Given the description of an element on the screen output the (x, y) to click on. 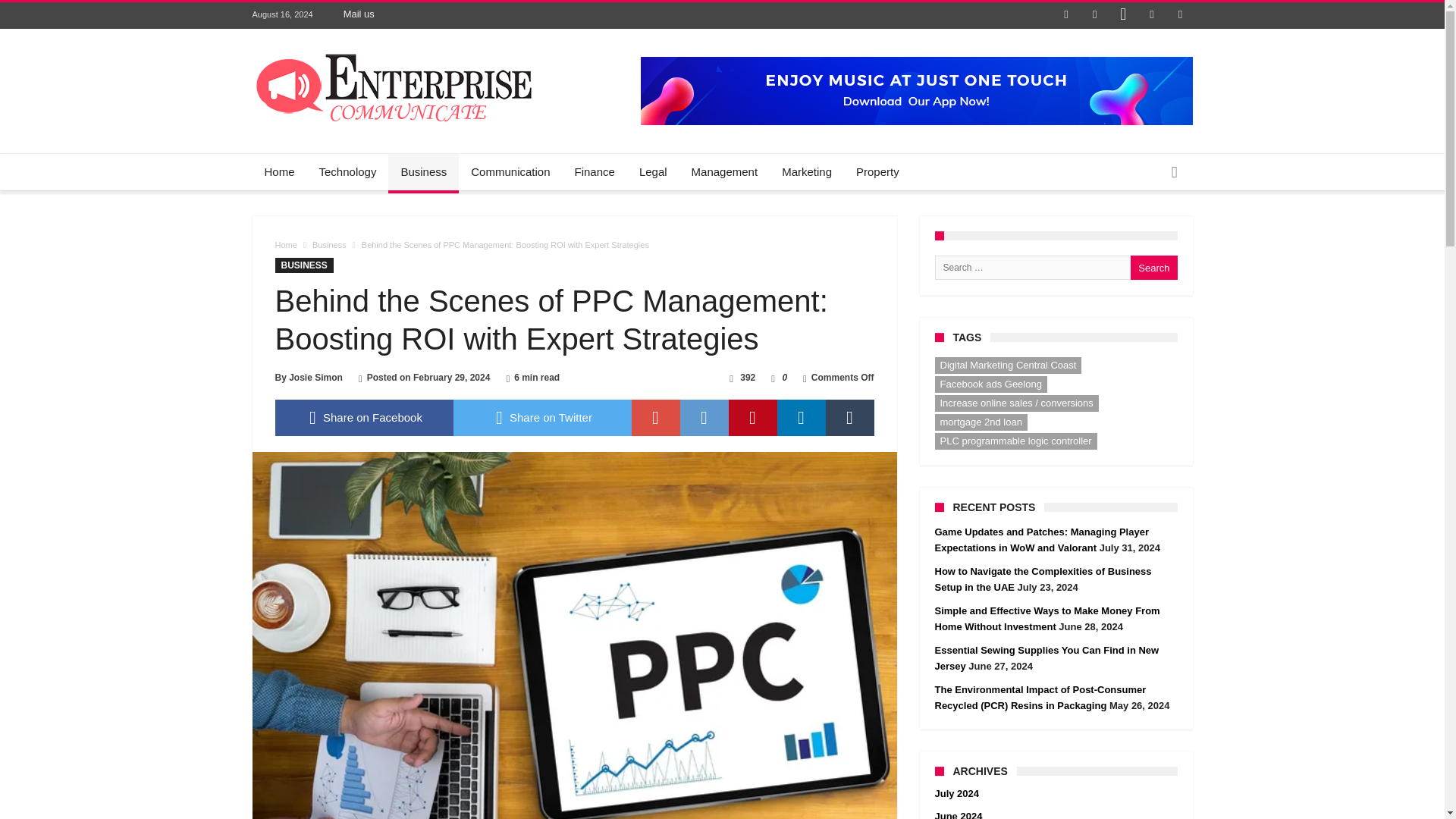
Home (278, 171)
Legal (653, 171)
Property (877, 171)
I like this article (772, 377)
Business (423, 171)
Communication (510, 171)
Home (286, 244)
Search (1153, 267)
Search (1153, 267)
Josie Simon (315, 377)
